Given the description of an element on the screen output the (x, y) to click on. 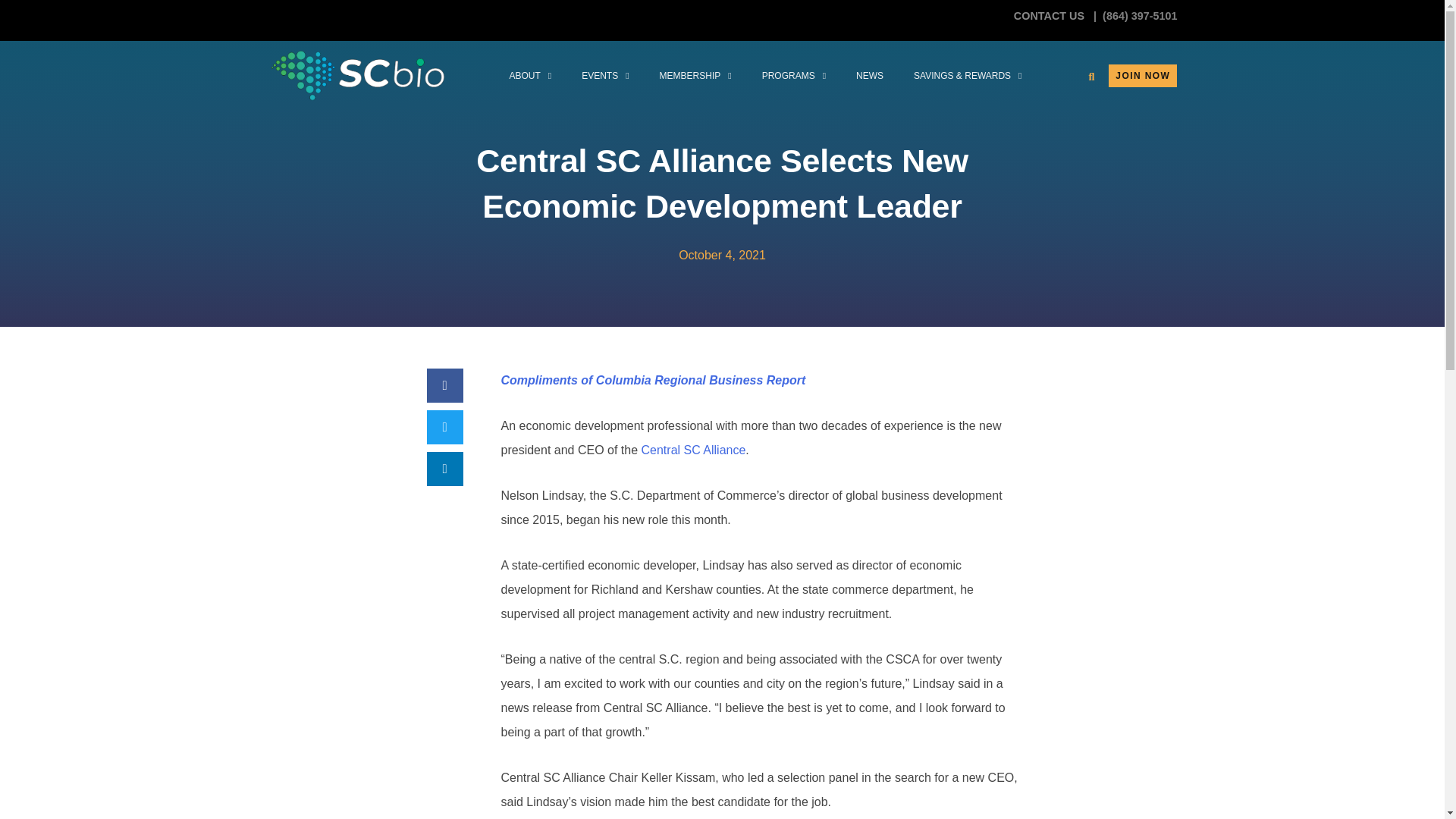
EVENTS (604, 75)
CONTACT US (1050, 15)
MEMBERSHIP (695, 75)
PROGRAMS (793, 75)
ABOUT (529, 75)
NEWS (869, 75)
